Given the description of an element on the screen output the (x, y) to click on. 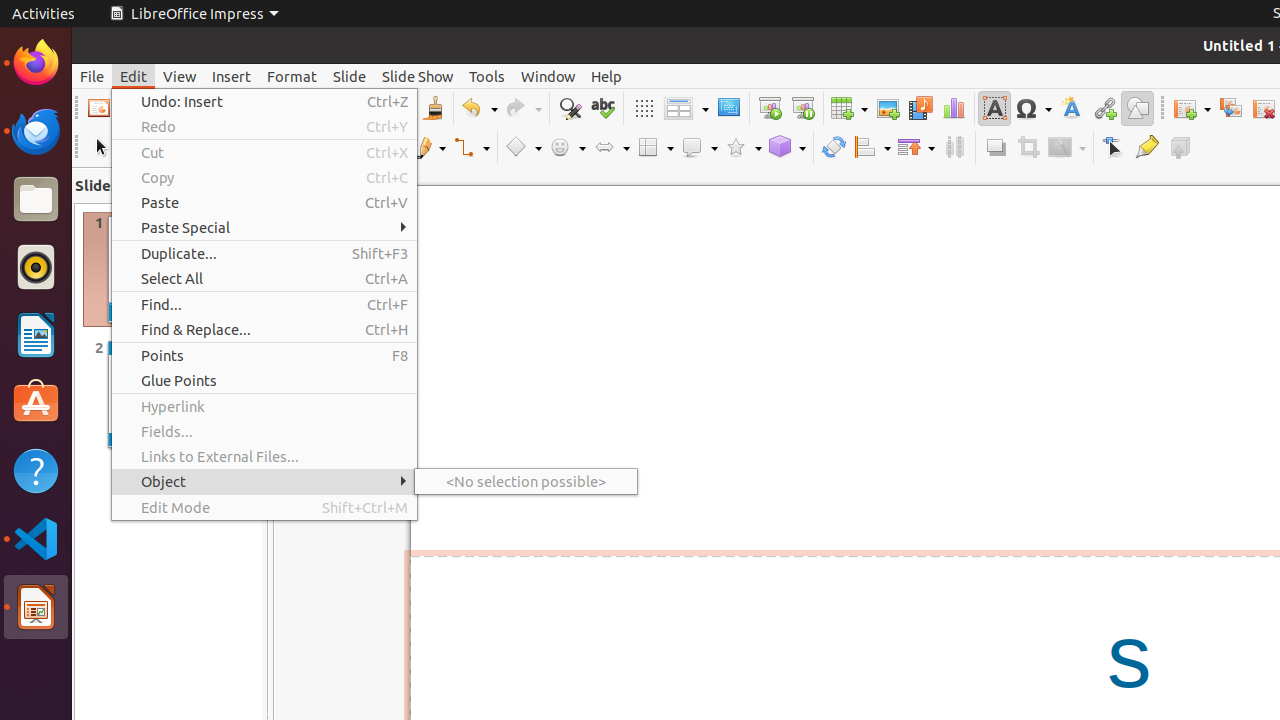
Glue Points Element type: check-menu-item (264, 380)
Thunderbird Mail Element type: push-button (36, 131)
Fields... Element type: menu-item (264, 431)
View Element type: menu (179, 76)
Links to External Files... Element type: menu-item (264, 456)
